Given the description of an element on the screen output the (x, y) to click on. 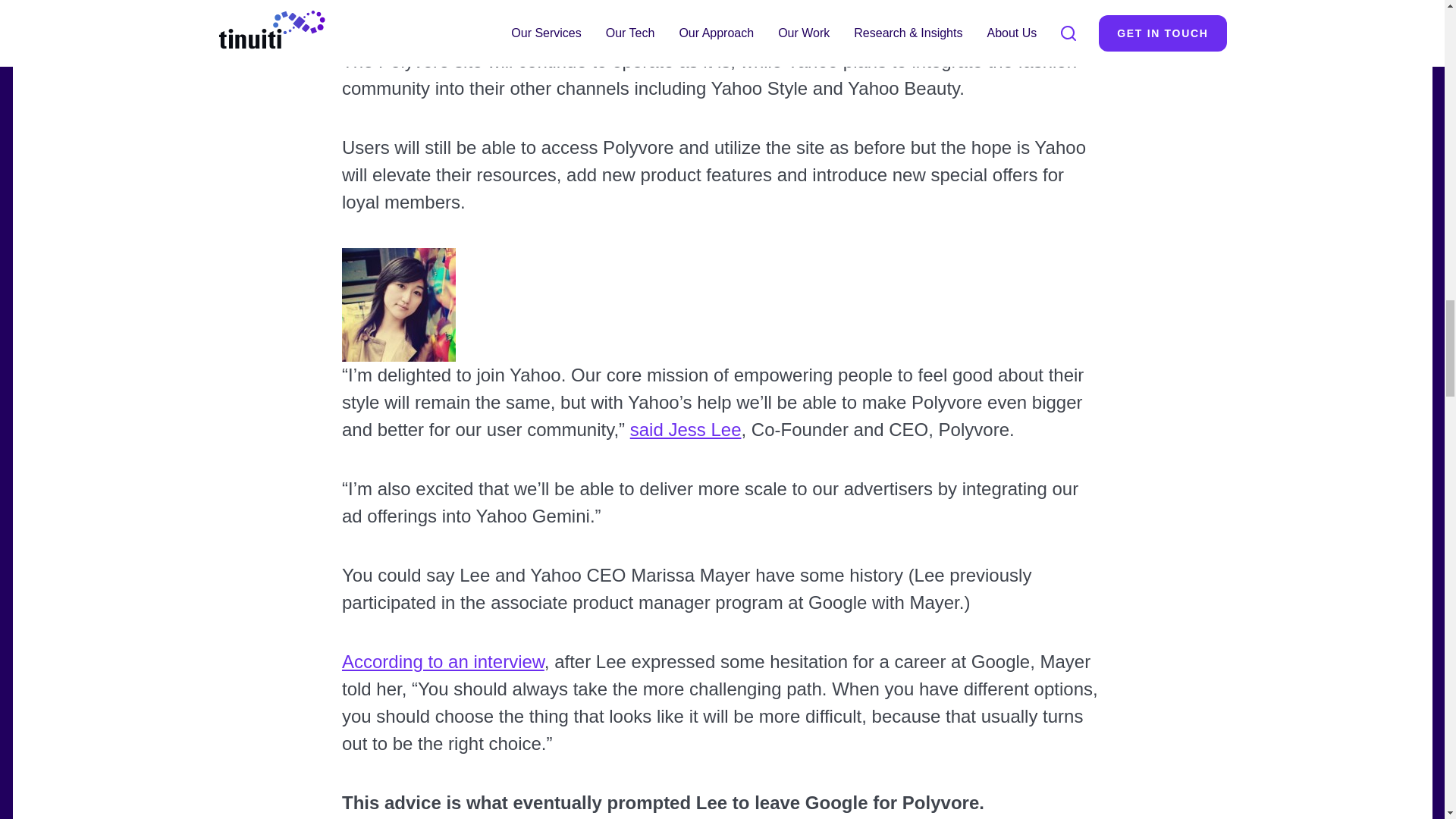
business-insider (441, 661)
jess-lee-polyvore (684, 429)
